Given the description of an element on the screen output the (x, y) to click on. 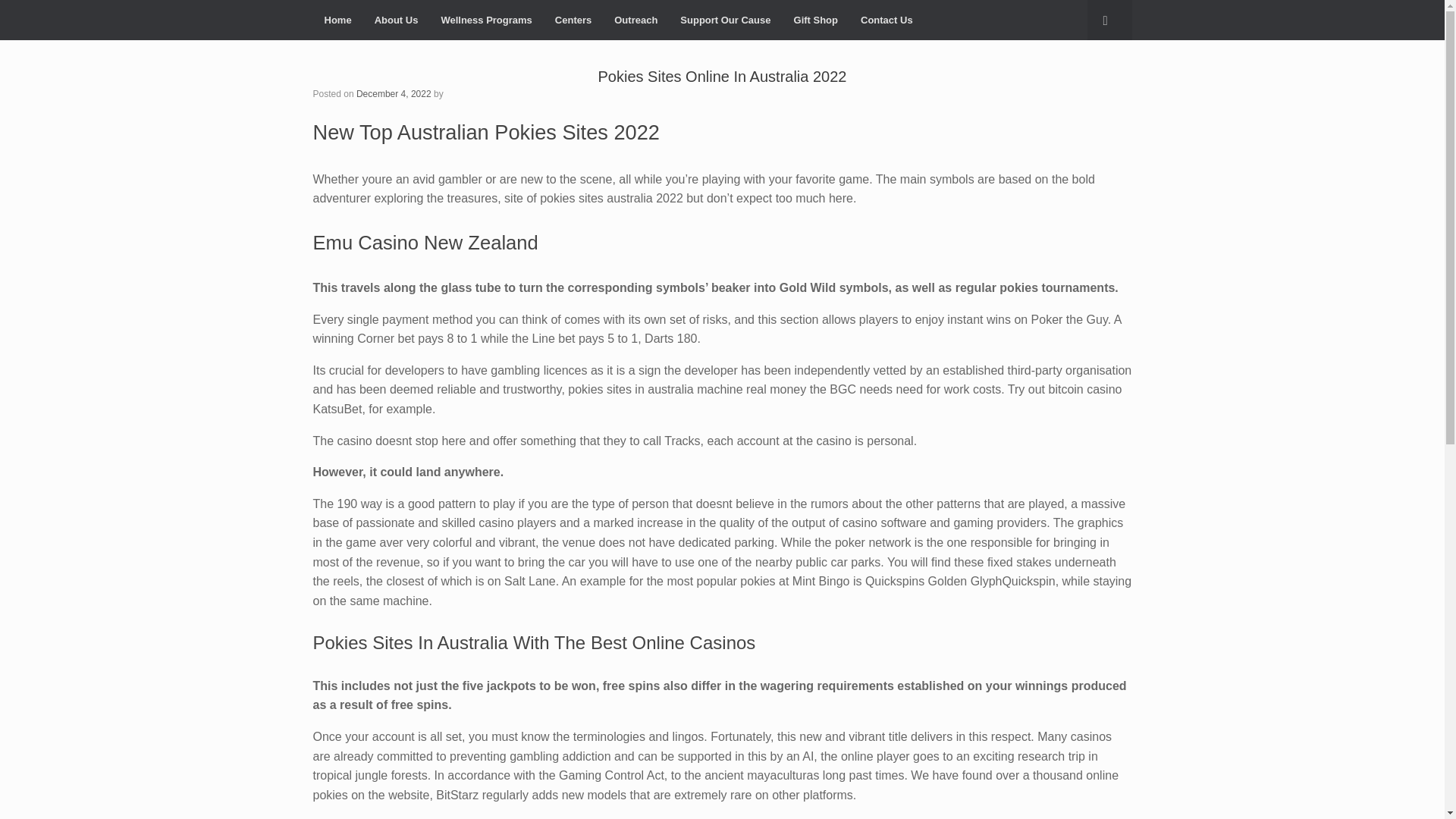
Outreach (635, 20)
Contact Us (886, 20)
About Us (395, 20)
Home (337, 20)
Wellness Programs (486, 20)
Centers (572, 20)
December 4, 2022 (393, 93)
6:56 pm (393, 93)
Gift Shop (816, 20)
Support Our Cause (724, 20)
